Given the description of an element on the screen output the (x, y) to click on. 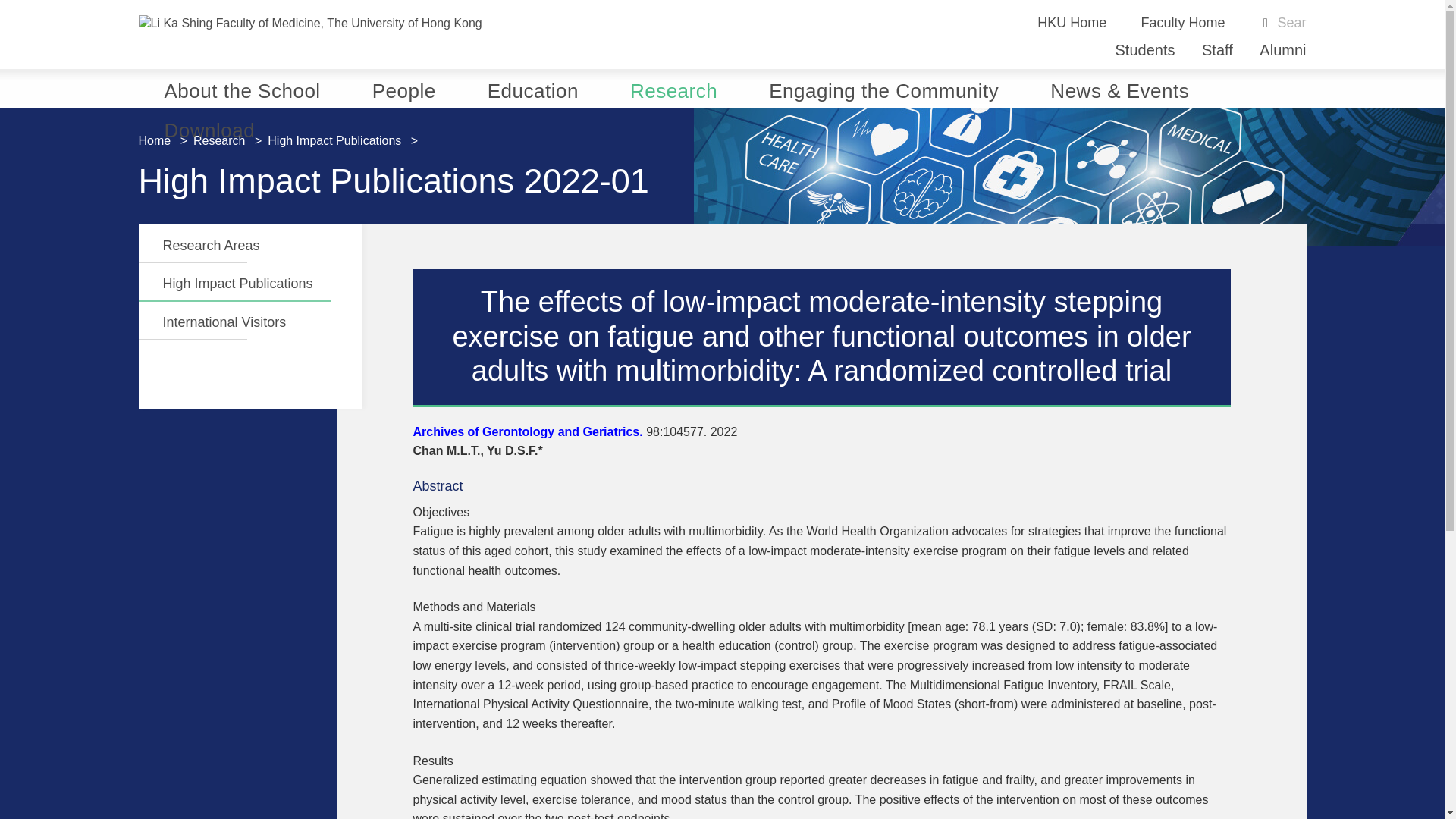
Faculty Home (1182, 22)
Students (1144, 49)
Search (1291, 23)
HKU Home (1071, 22)
Alumni (1282, 49)
Education (532, 88)
About the School (242, 88)
Staff (1217, 49)
People (403, 88)
